Given the description of an element on the screen output the (x, y) to click on. 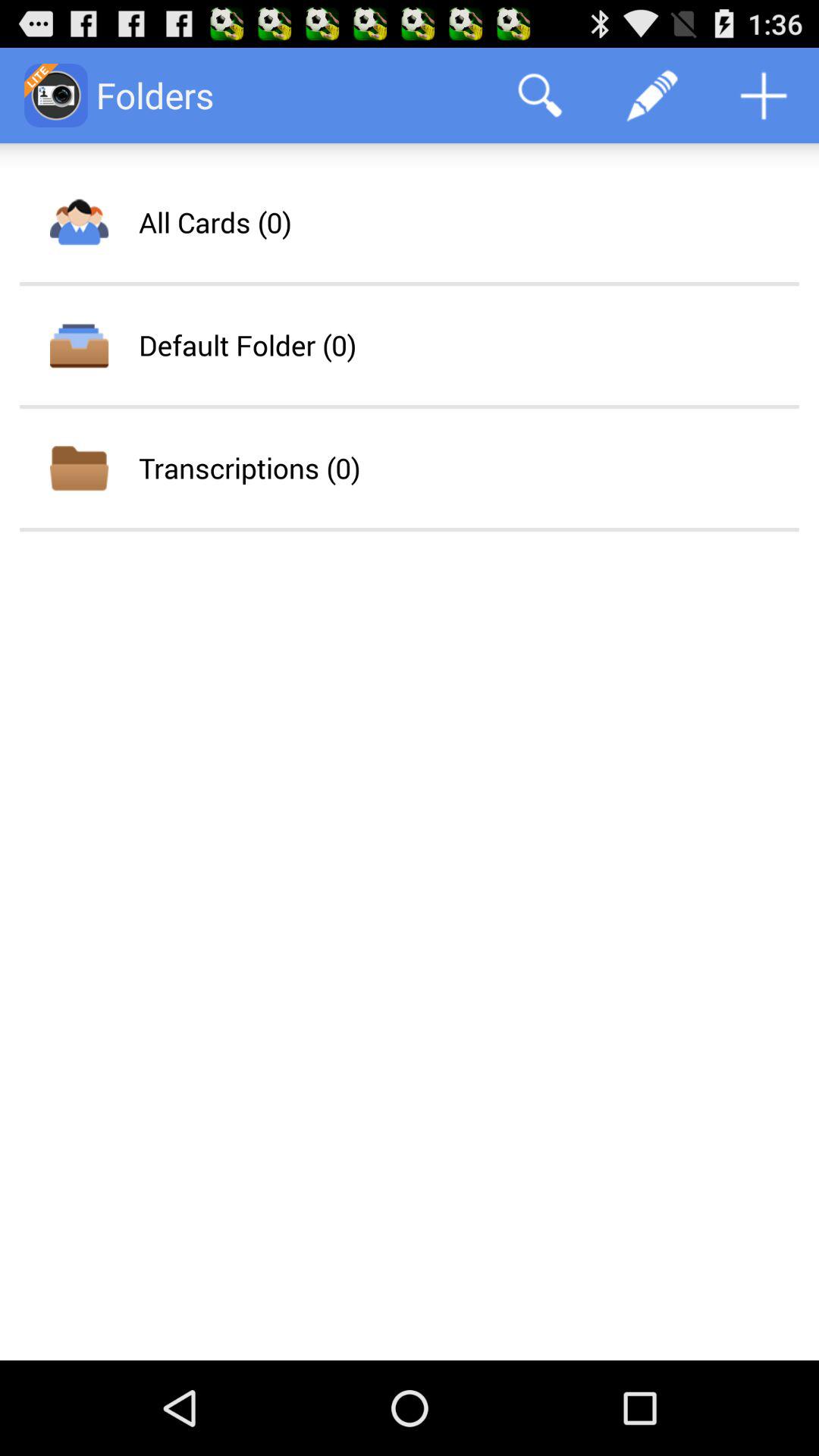
click item to the right of folders app (540, 95)
